Given the description of an element on the screen output the (x, y) to click on. 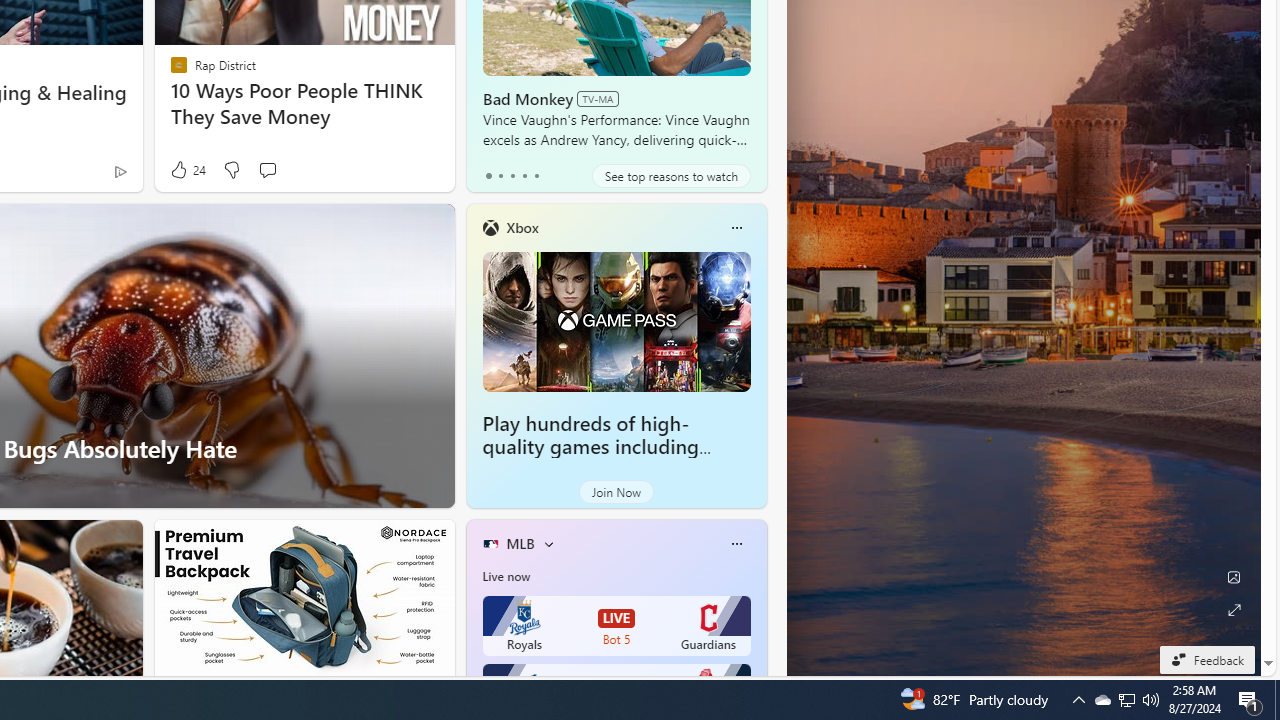
Royals LIVE Bot 5 Guardians (616, 625)
Dislike (230, 170)
Start the conversation (267, 170)
Class: icon-img (736, 543)
Edit Background (1233, 577)
Join Now (616, 491)
Expand background (1233, 610)
24 Like (186, 170)
tab-2 (511, 175)
tab-4 (535, 175)
More interests (548, 543)
tab-1 (500, 175)
